Given the description of an element on the screen output the (x, y) to click on. 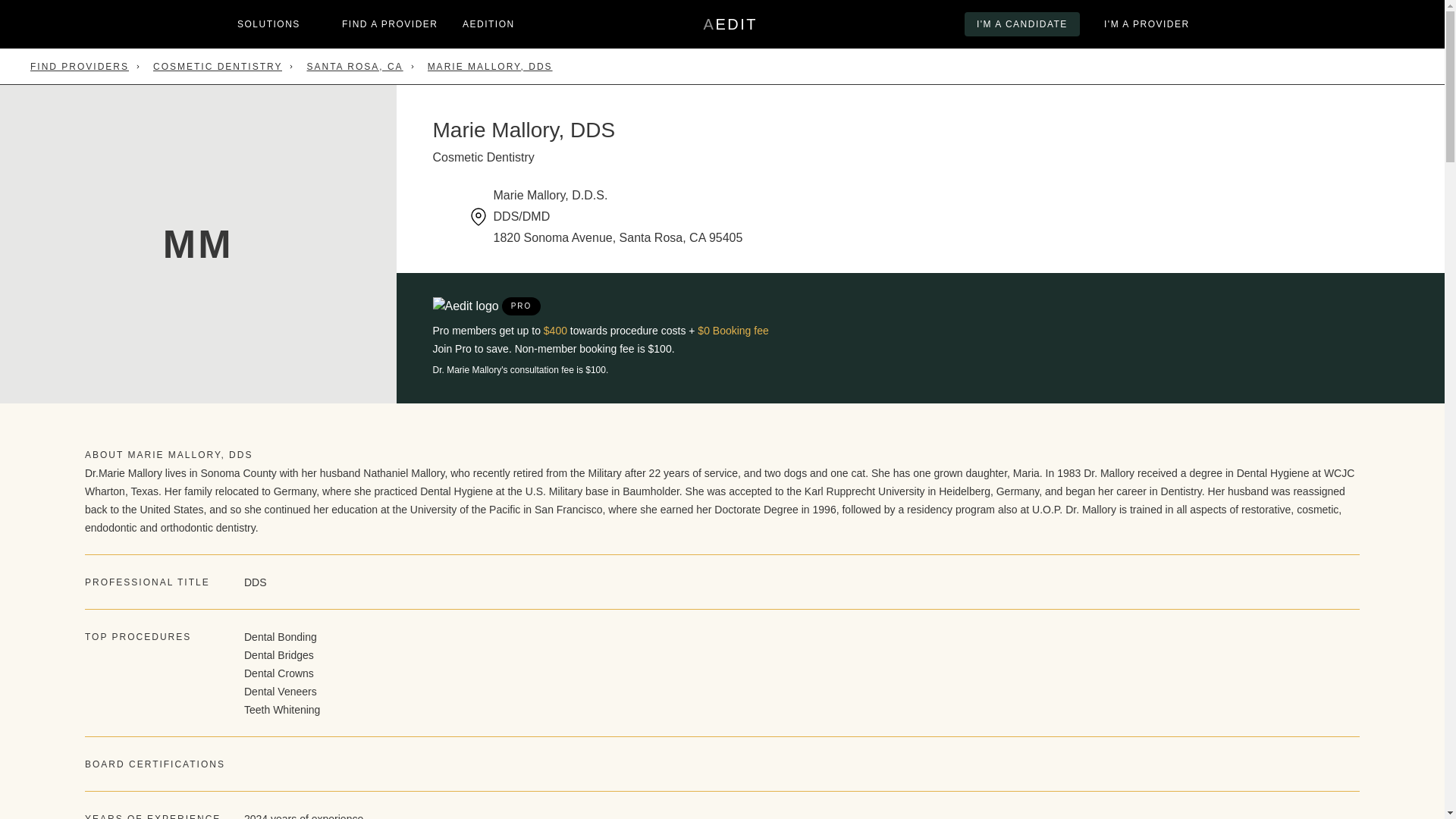
SANTA ROSA, CA (354, 66)
I'M A CANDIDATE (1021, 24)
FIND PROVIDERS (79, 66)
AEDITION (730, 24)
FIND A PROVIDER (489, 24)
COSMETIC DENTISTRY (390, 24)
